Given the description of an element on the screen output the (x, y) to click on. 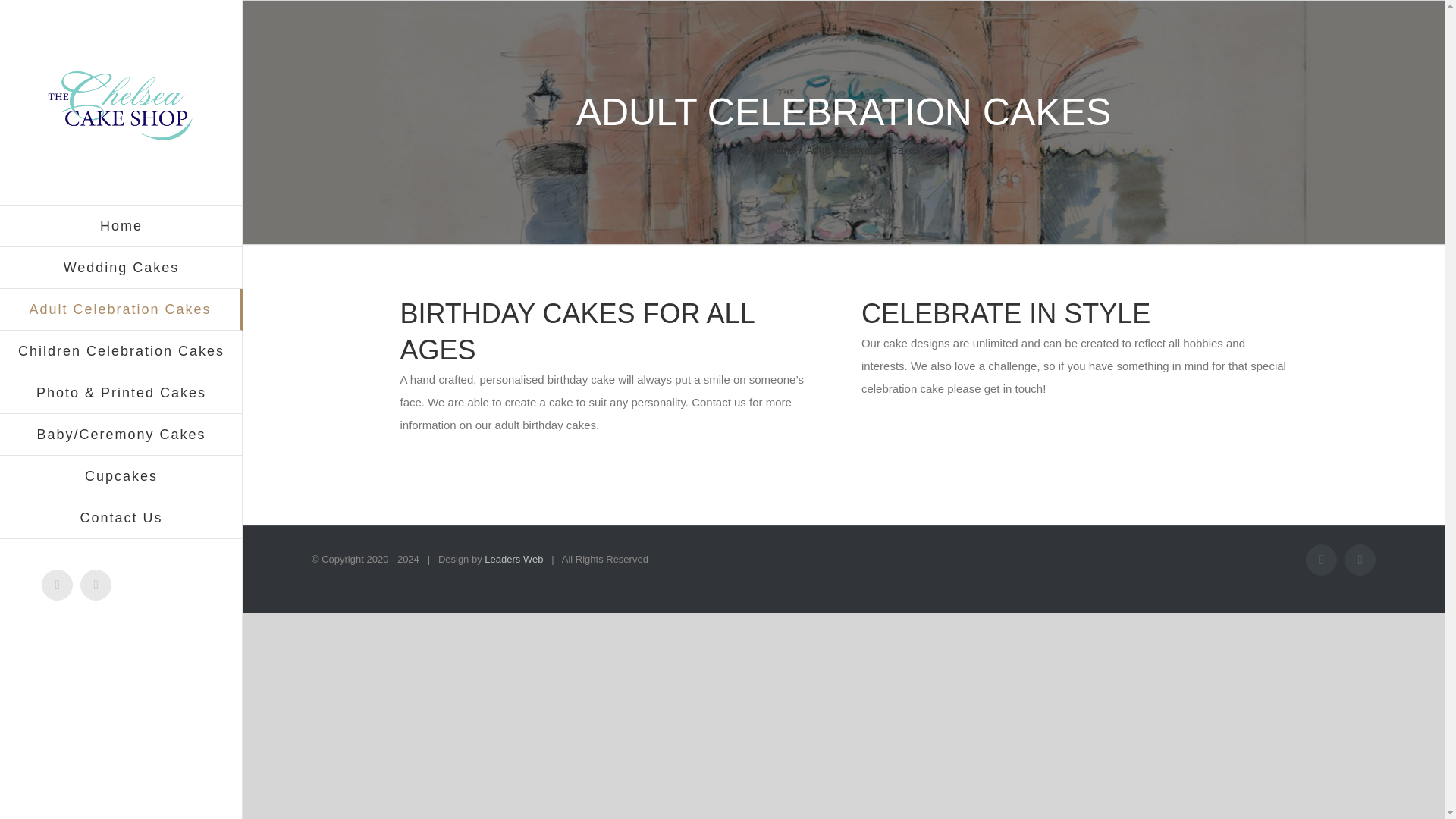
Wedding Cakes (121, 268)
Cupcakes (121, 476)
Adult Celebration Cakes (121, 309)
Instagram (96, 584)
Facebook (57, 584)
Facebook (57, 584)
Children Celebration Cakes (121, 351)
Home (121, 225)
Instagram (96, 584)
Contact Us (121, 517)
